Given the description of an element on the screen output the (x, y) to click on. 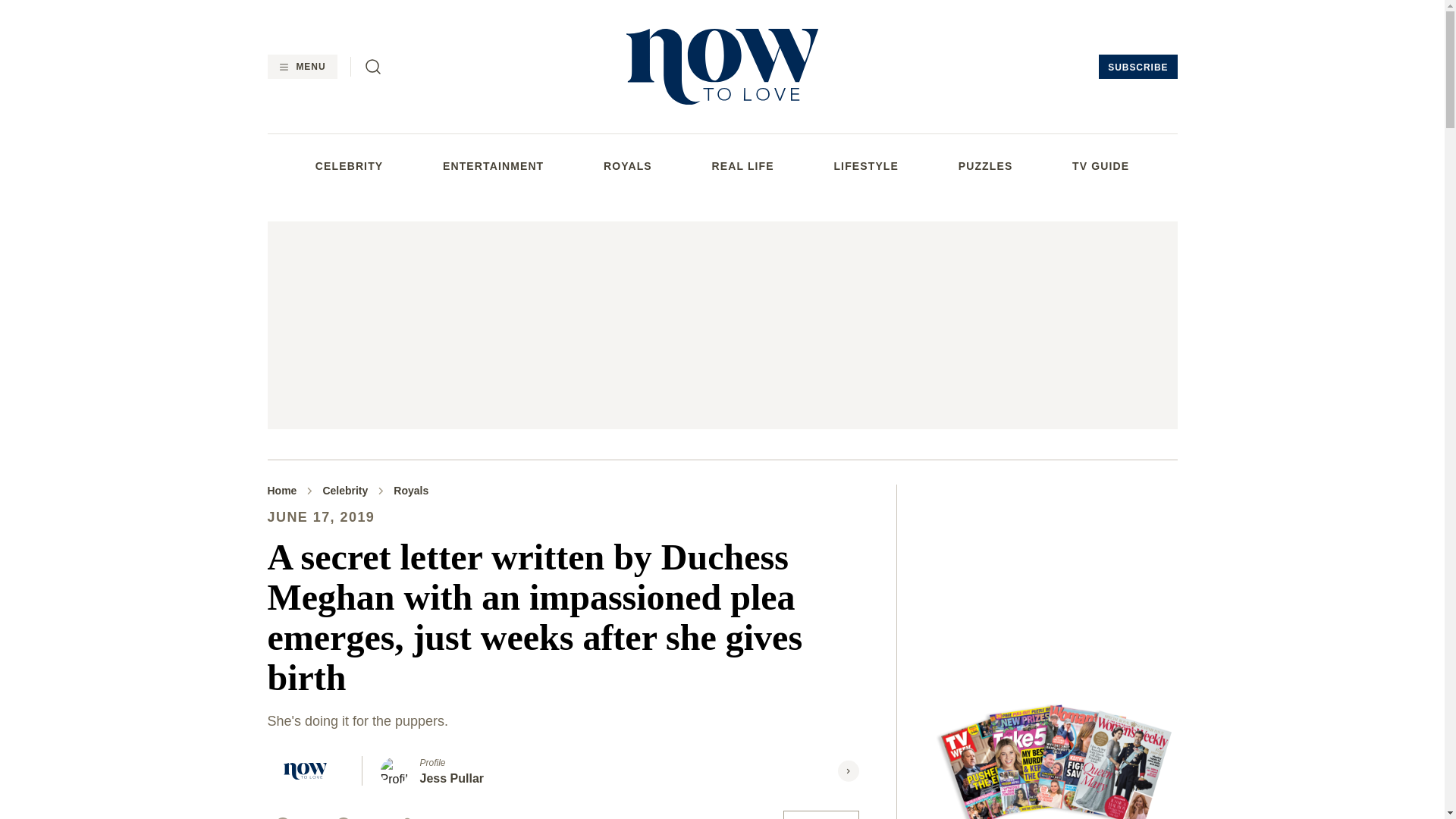
CELEBRITY (348, 165)
SUBSCRIBE (1137, 66)
MENU (301, 66)
ENTERTAINMENT (492, 165)
TV GUIDE (1100, 165)
PUZZLES (985, 165)
LIFESTYLE (865, 165)
ROYALS (628, 165)
REAL LIFE (742, 165)
